Given the description of an element on the screen output the (x, y) to click on. 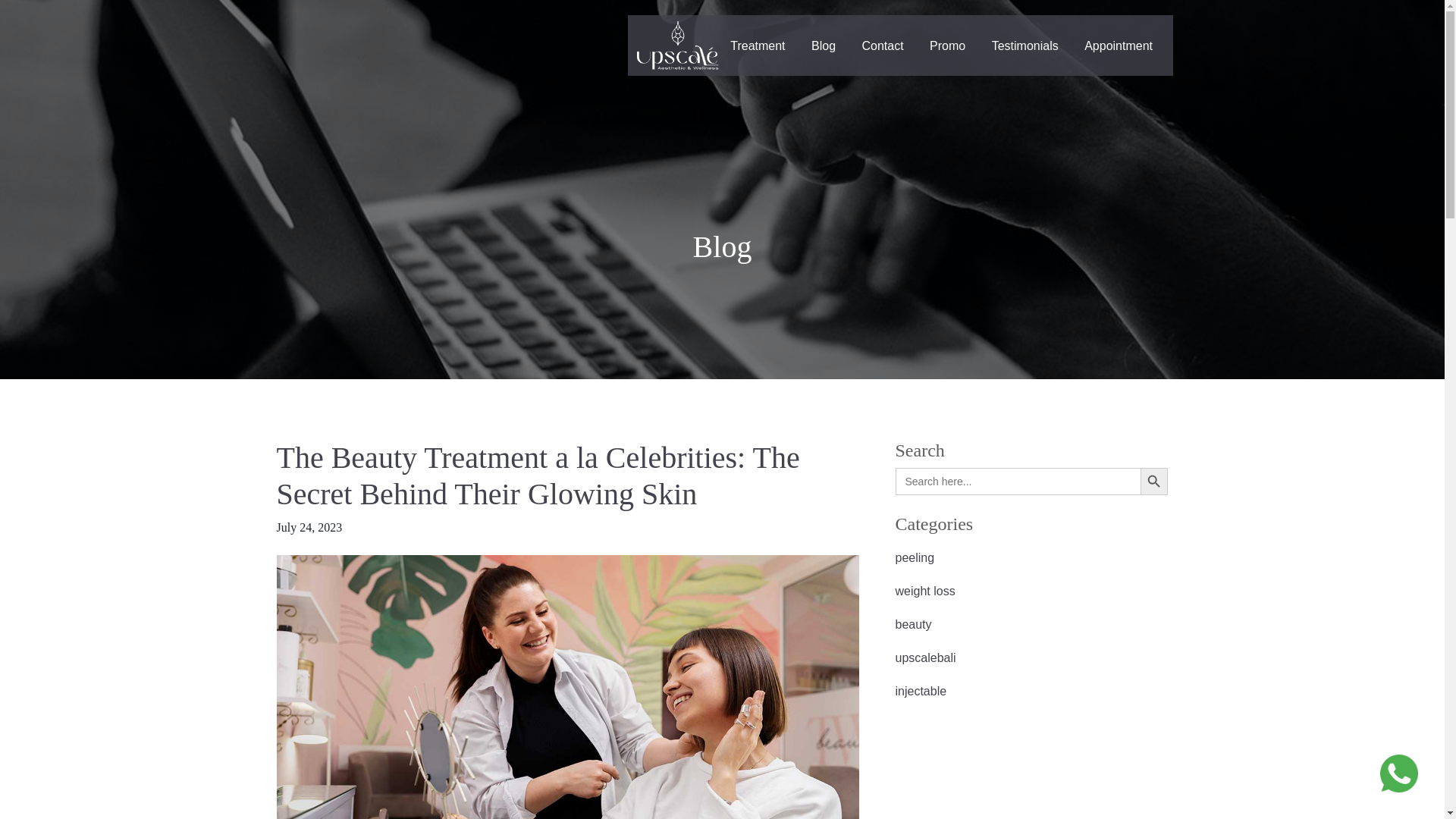
Promo (947, 45)
Treatment (757, 45)
Blog (823, 45)
Search Button (1153, 481)
blog (823, 45)
beauty (1031, 624)
Treatment (757, 45)
Testimonials (1024, 45)
Contact (882, 45)
Appointment (1118, 45)
